Given the description of an element on the screen output the (x, y) to click on. 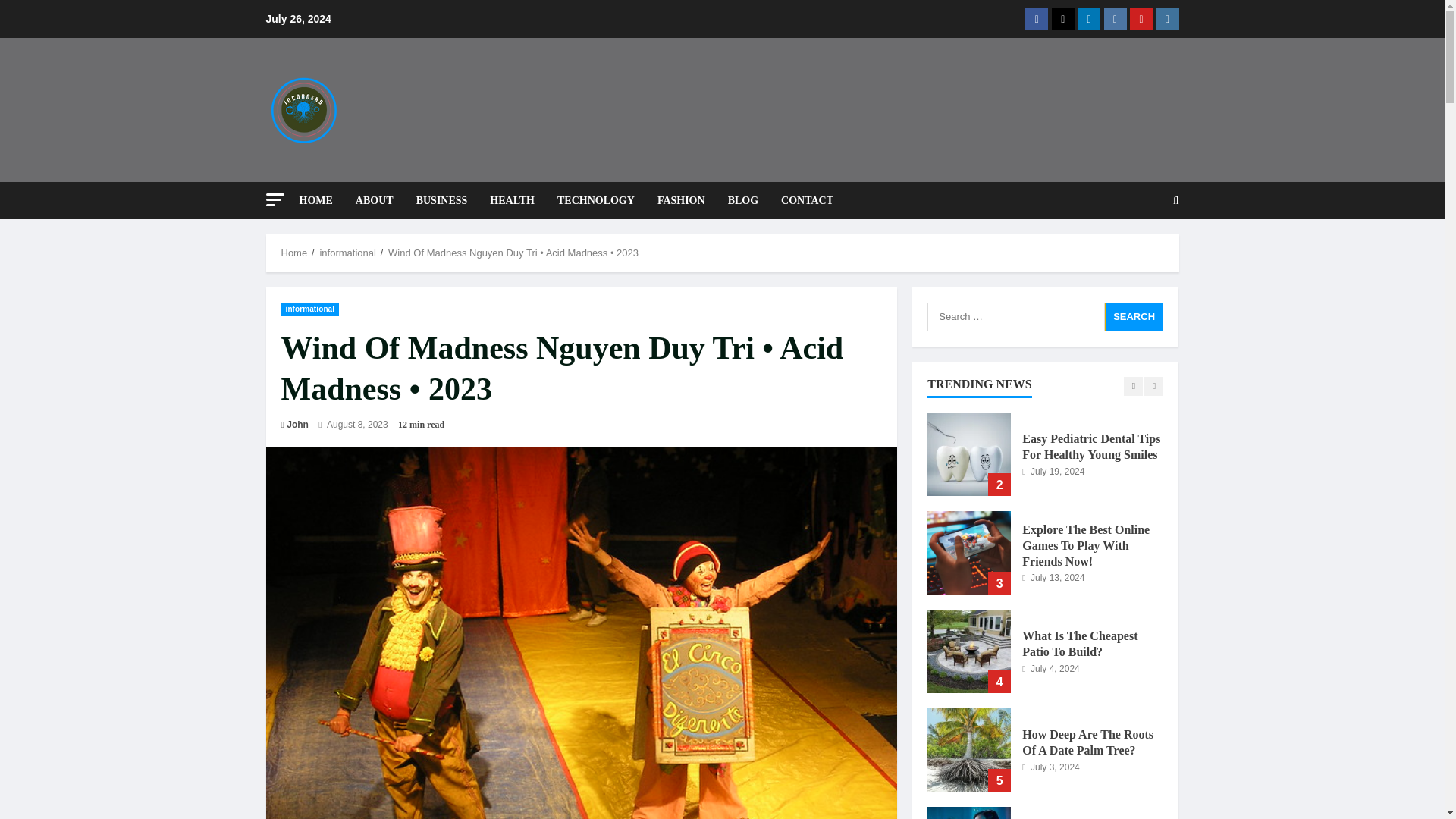
Facebook (1036, 18)
FASHION (681, 200)
ABOUT (373, 200)
CONTACT (801, 200)
TECHNOLOGY (596, 200)
Instagram (1166, 18)
Youtube (1141, 18)
HEALTH (512, 200)
HOME (320, 200)
Search (1139, 252)
Search (1134, 316)
Linkedin (1088, 18)
VK (1114, 18)
BUSINESS (441, 200)
BLOG (743, 200)
